Given the description of an element on the screen output the (x, y) to click on. 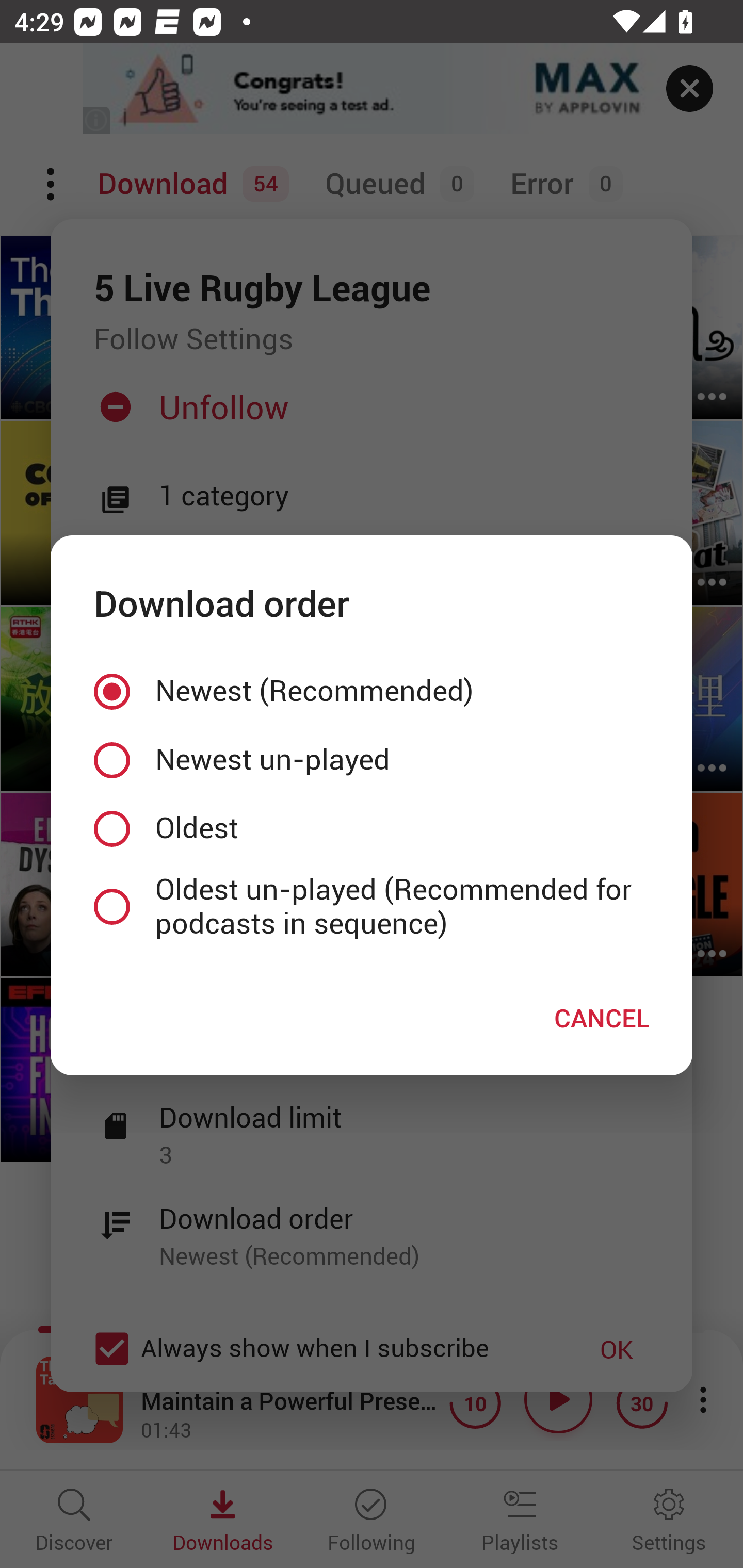
Newest (Recommended) (371, 692)
Newest un-played (371, 759)
Oldest (371, 828)
CANCEL (600, 1017)
